Given the description of an element on the screen output the (x, y) to click on. 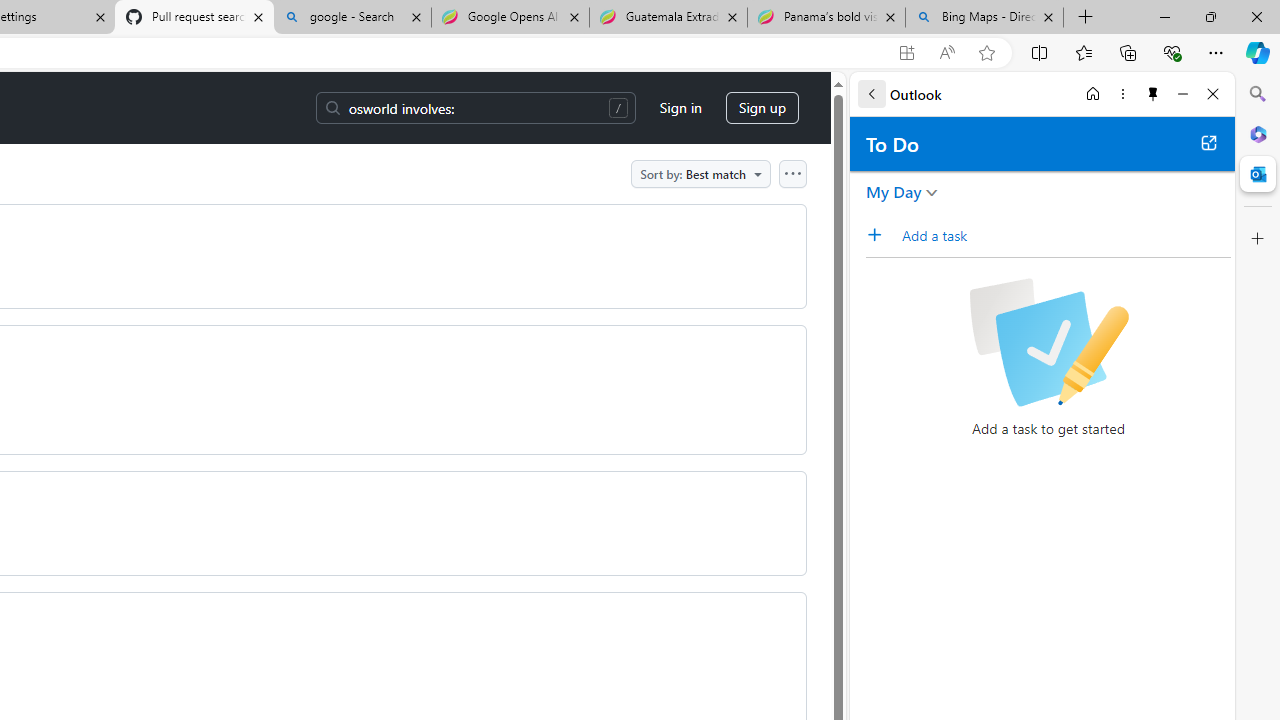
App available. Install GitHub (906, 53)
Checkbox with a pencil (1047, 342)
